Given the description of an element on the screen output the (x, y) to click on. 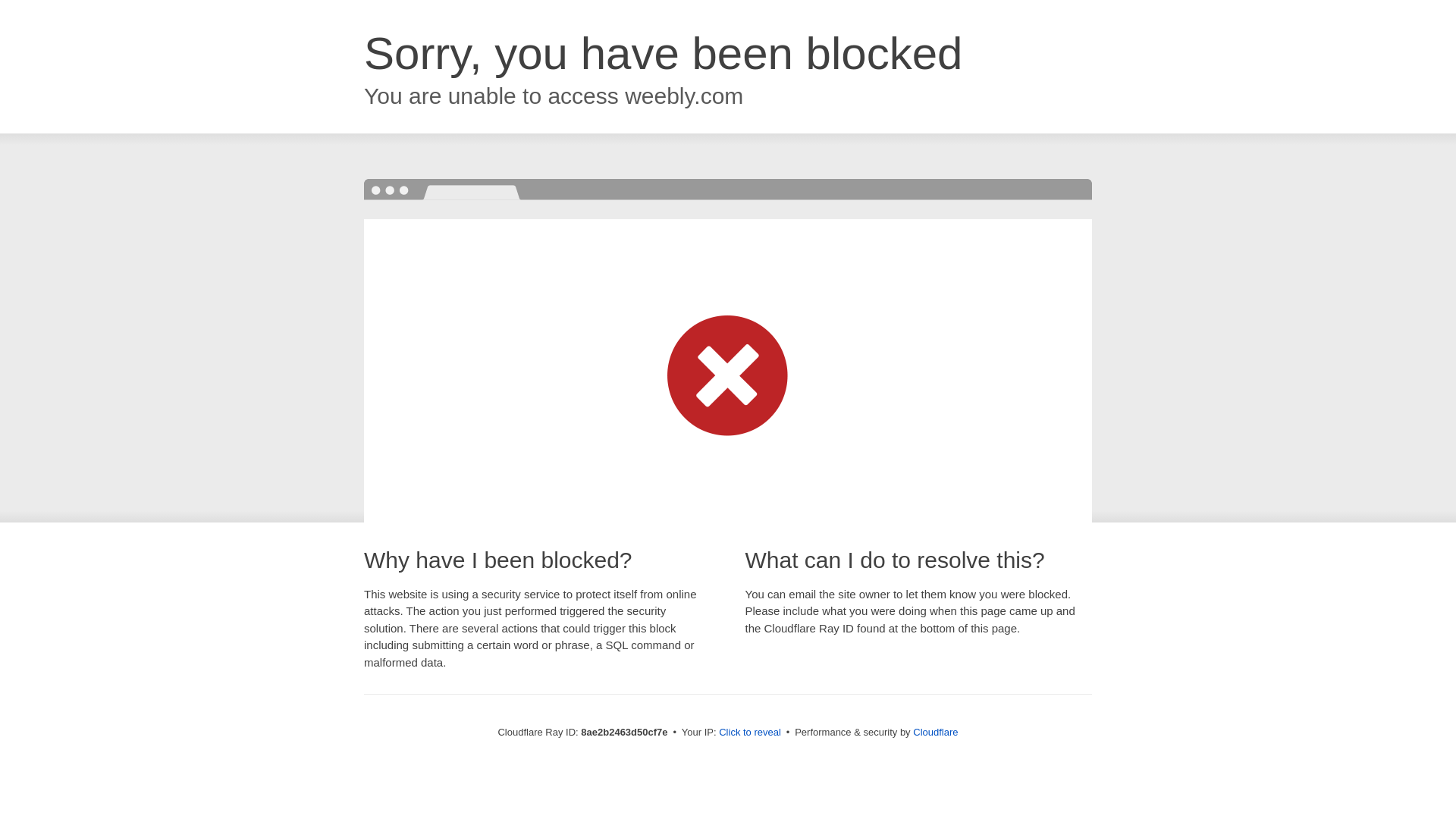
Cloudflare (935, 731)
Click to reveal (749, 732)
